Given the description of an element on the screen output the (x, y) to click on. 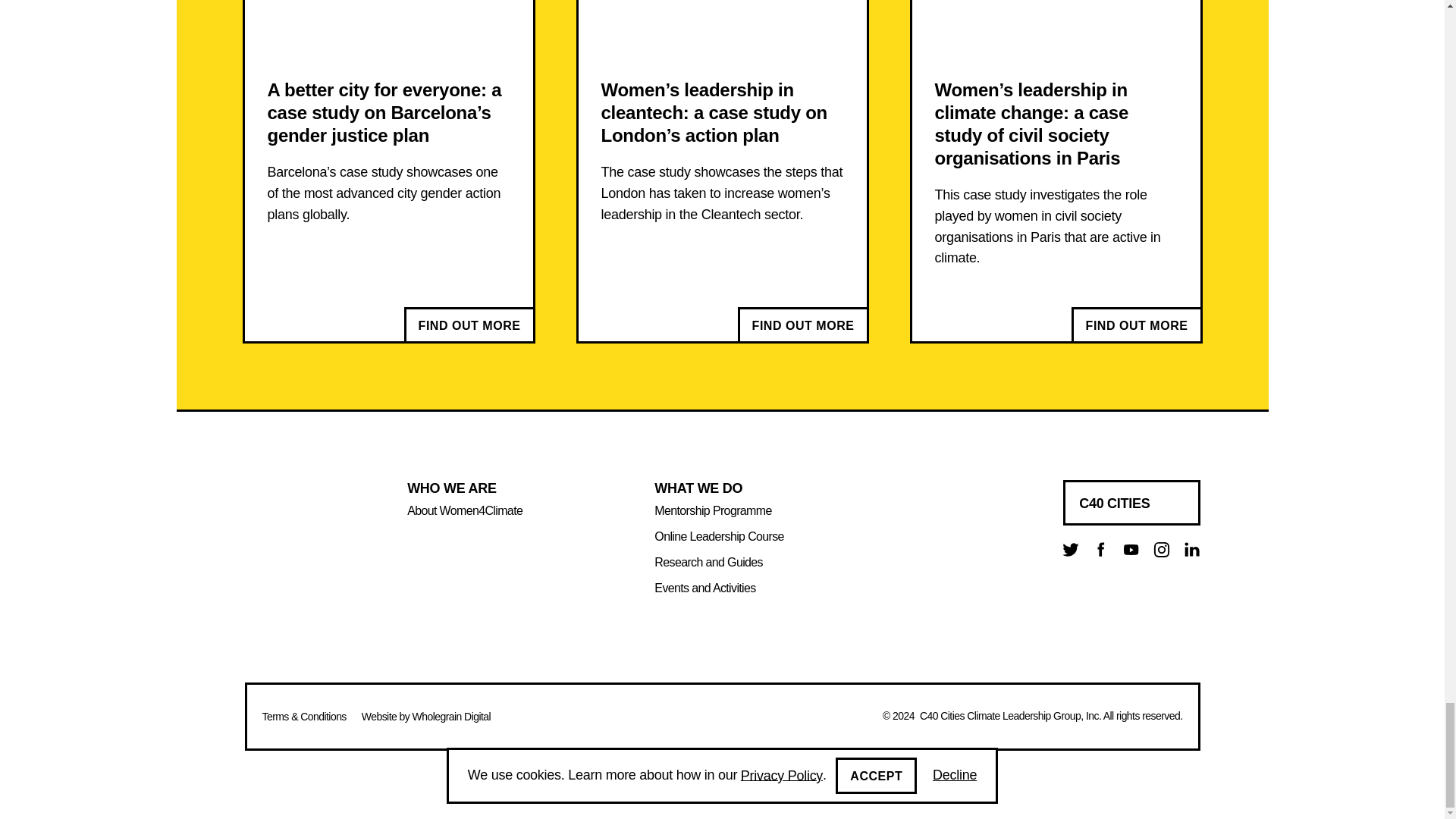
FIND OUT MORE (468, 324)
FIND OUT MORE (802, 324)
